Given the description of an element on the screen output the (x, y) to click on. 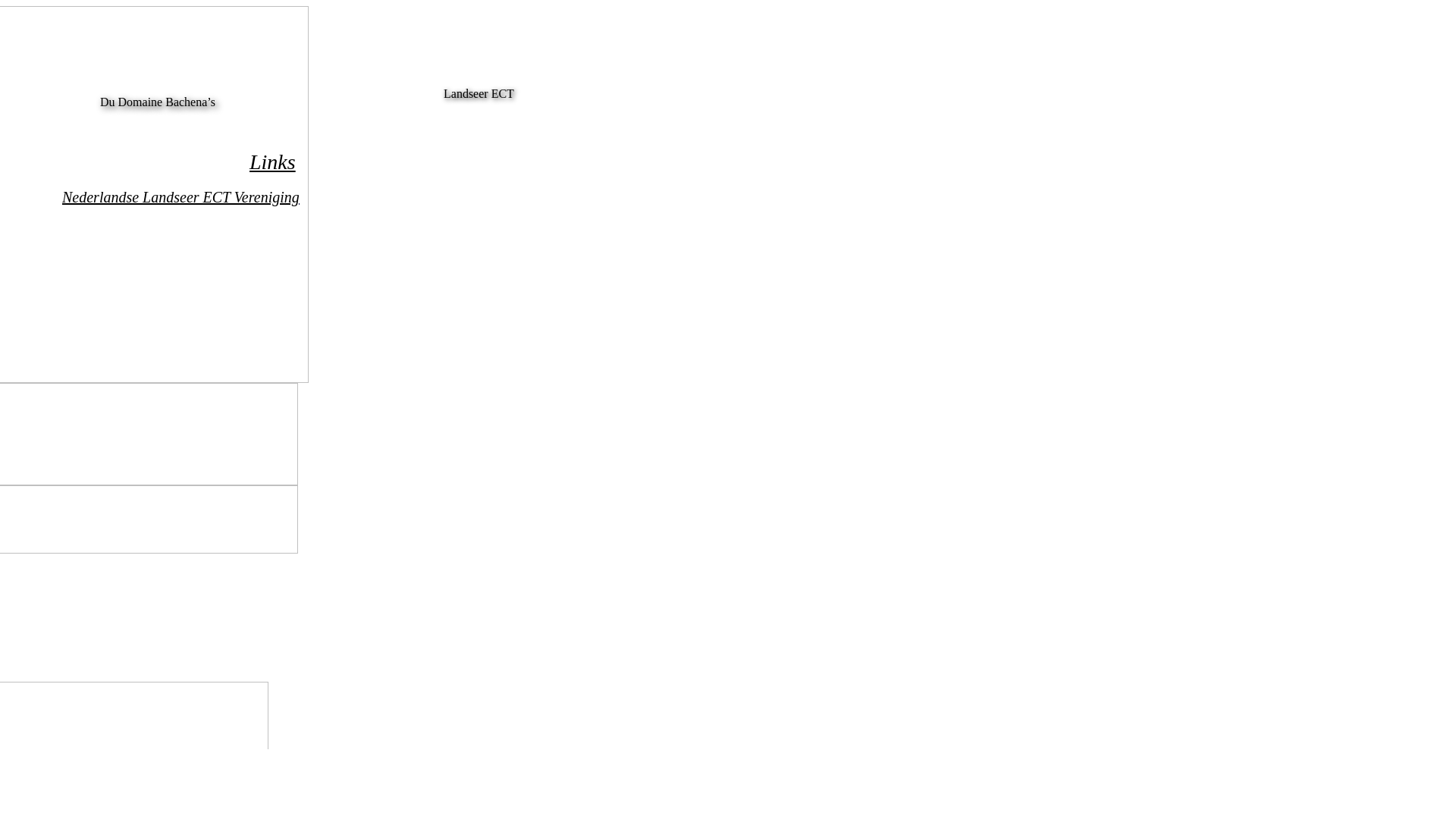
Nederlandse Landseer ECT Vereniging Element type: text (180, 196)
